Given the description of an element on the screen output the (x, y) to click on. 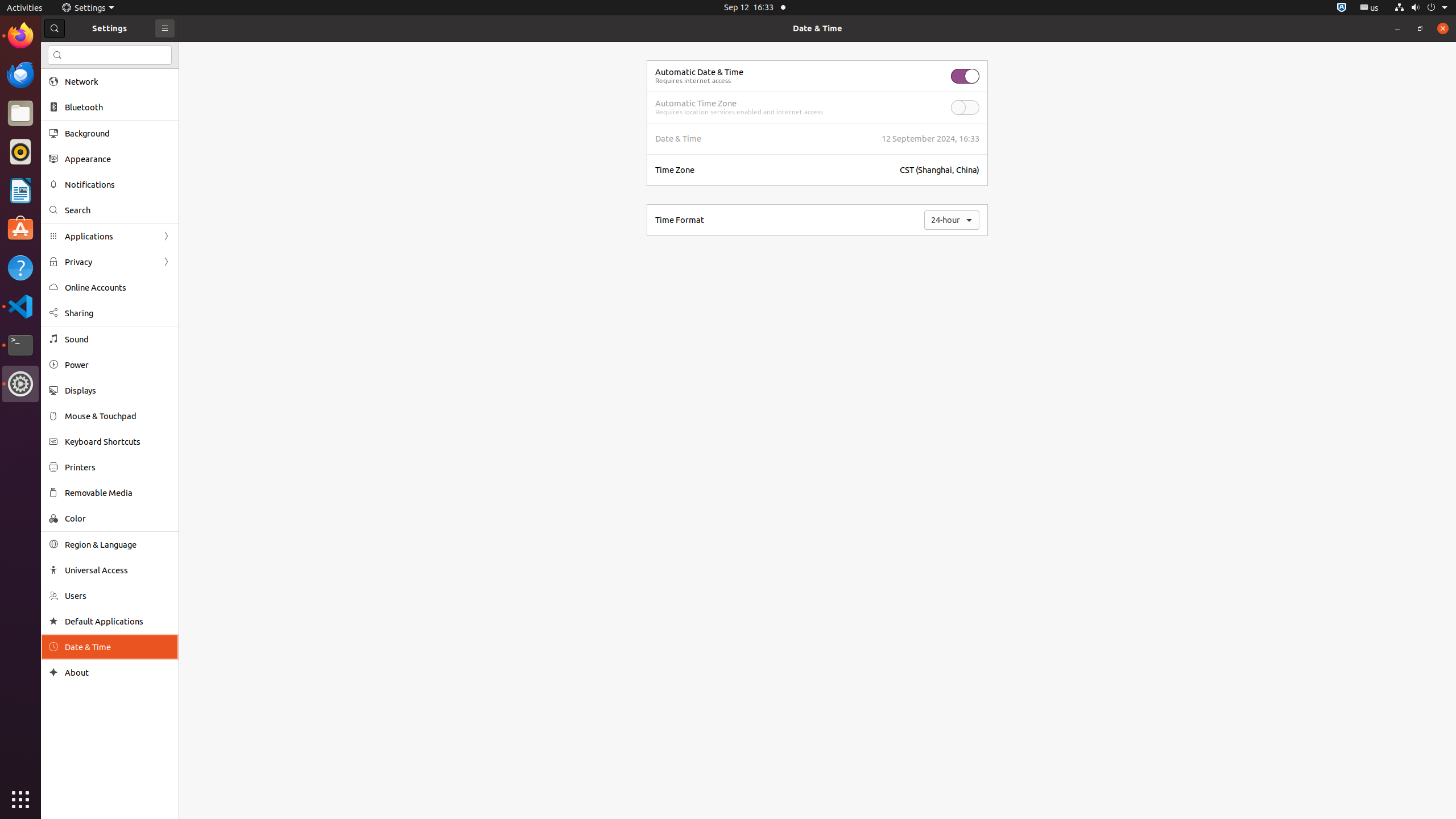
li.txt Element type: label (146, 50)
Notifications Element type: label (117, 184)
Time Zone Element type: label (674, 169)
Printers Element type: label (117, 467)
Privacy Element type: label (109, 261)
